Given the description of an element on the screen output the (x, y) to click on. 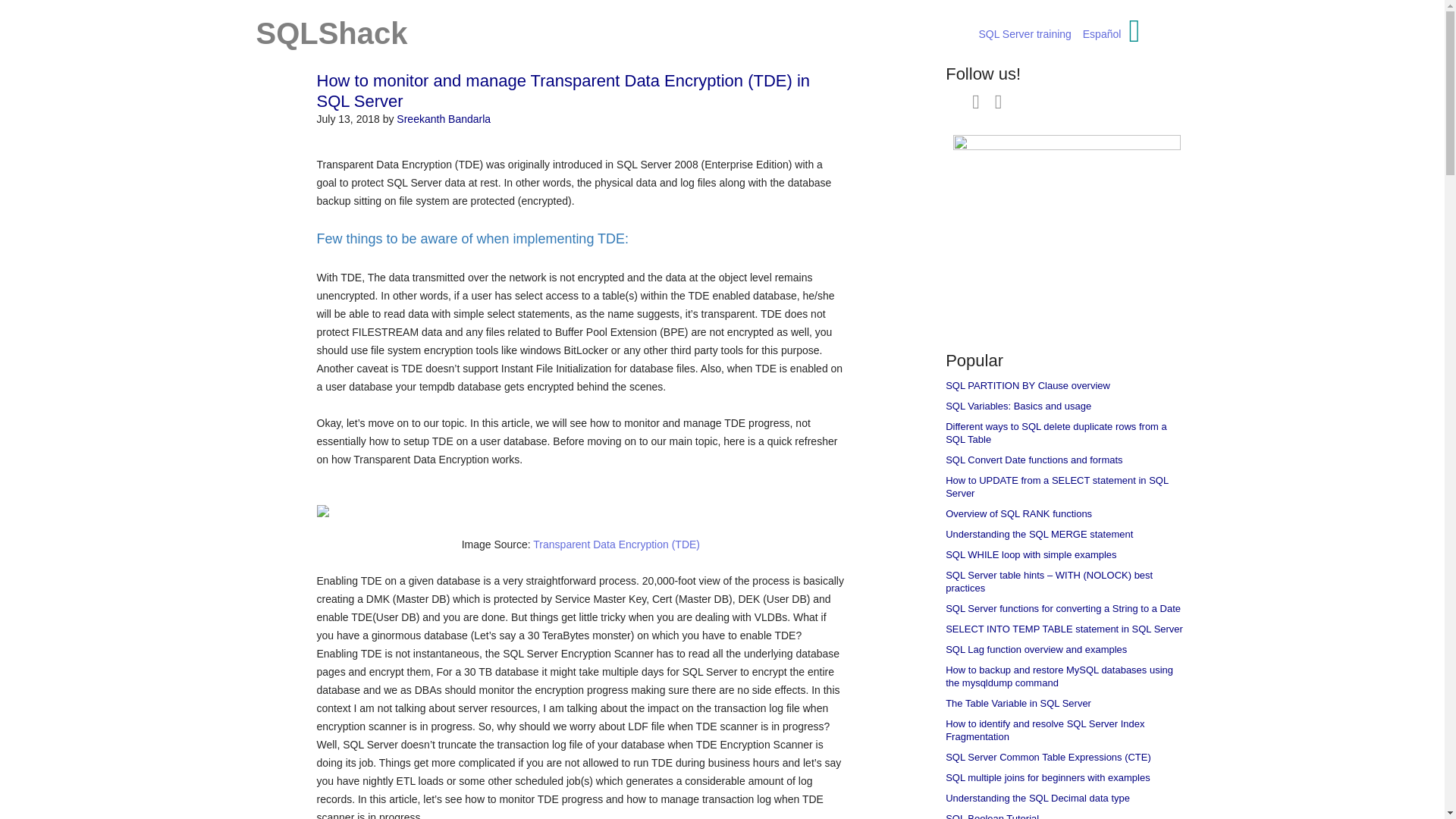
SQL PARTITION BY Clause overview (1026, 385)
Sreekanth Bandarla (443, 119)
Skip to content (891, 36)
SQL Variables: Basics and usage (1017, 405)
SQL Server training (1024, 33)
Skip to content (891, 36)
SQLShack (331, 33)
